Given the description of an element on the screen output the (x, y) to click on. 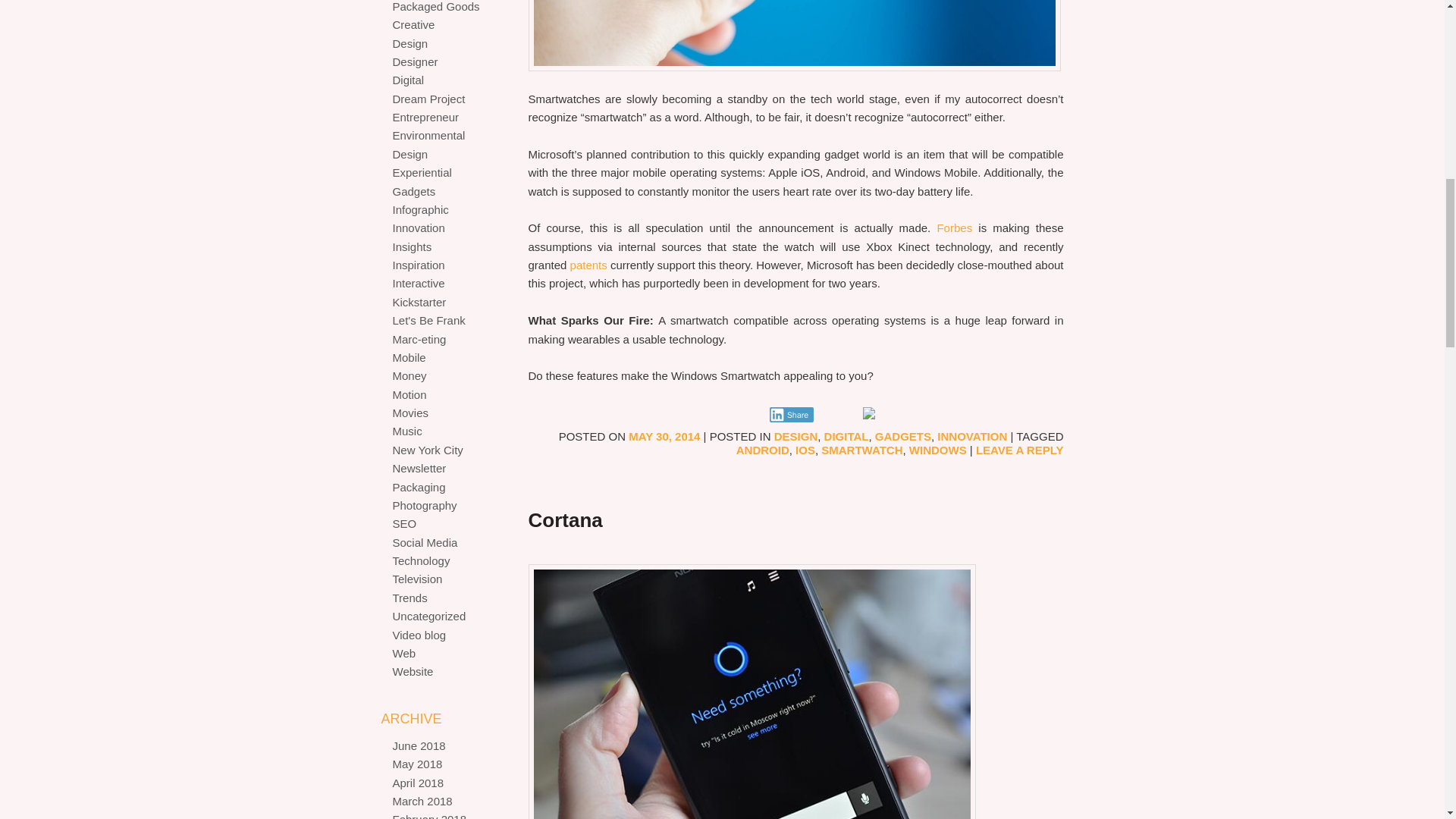
INNOVATION (972, 436)
Share (790, 414)
IOS (804, 449)
DESIGN (796, 436)
patents (588, 264)
LEAVE A REPLY (1019, 449)
Permalink to Cortana (564, 519)
8:17 am (664, 436)
GADGETS (903, 436)
Forbes (954, 227)
DIGITAL (846, 436)
SMARTWATCH (861, 449)
WINDOWS (937, 449)
ANDROID (762, 449)
MAY 30, 2014 (664, 436)
